Given the description of an element on the screen output the (x, y) to click on. 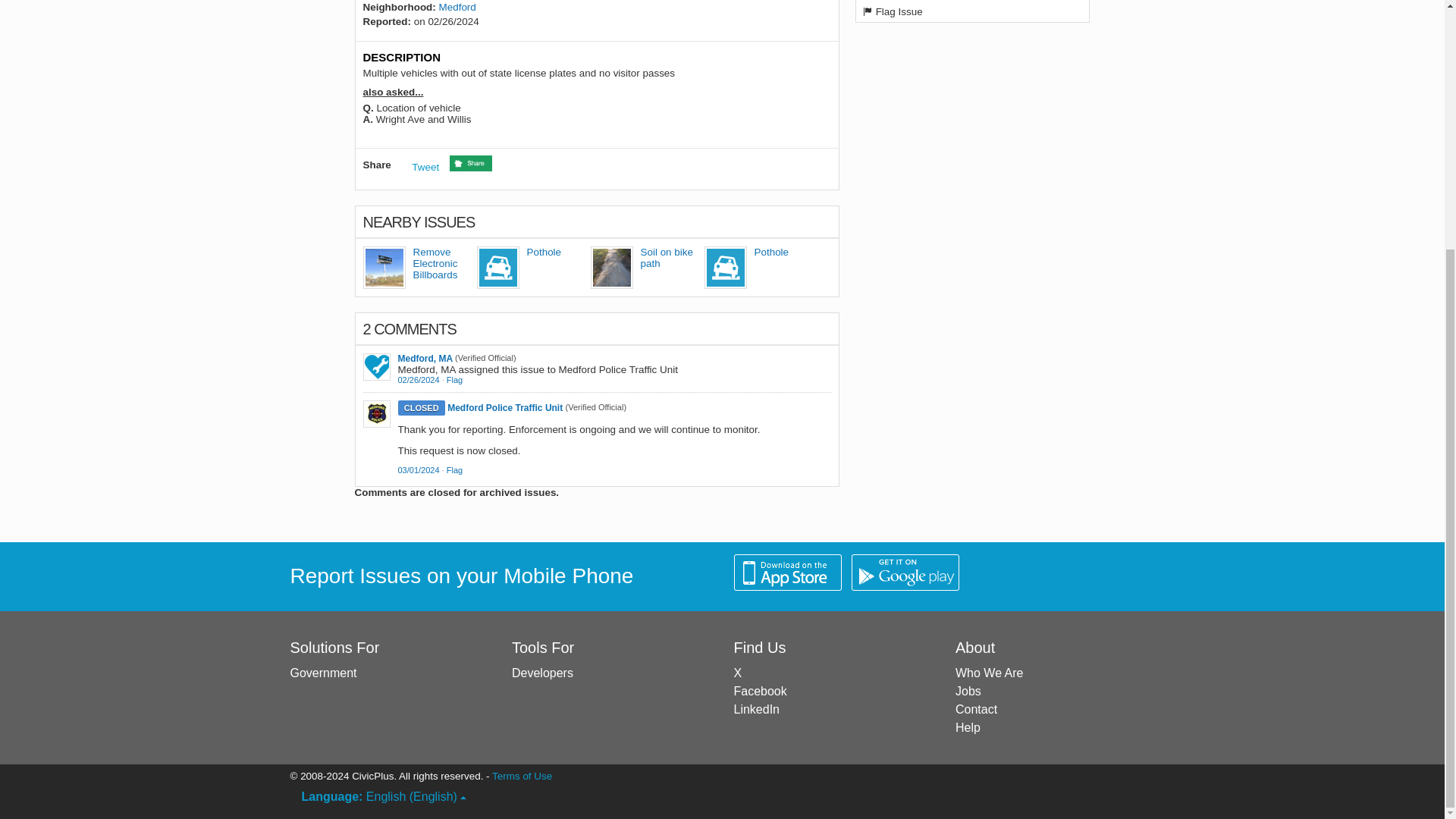
Help (967, 727)
Flag (454, 379)
Pothole (771, 251)
SeeClickFix for Android (905, 572)
Who We Are (989, 672)
Medford (457, 7)
Share on Nextdoor (470, 162)
Contact (976, 708)
Flag (454, 379)
Flag (454, 470)
Soil on bike path (666, 257)
Medford, MA (424, 357)
Jobs (968, 690)
Pothole (542, 251)
